Given the description of an element on the screen output the (x, y) to click on. 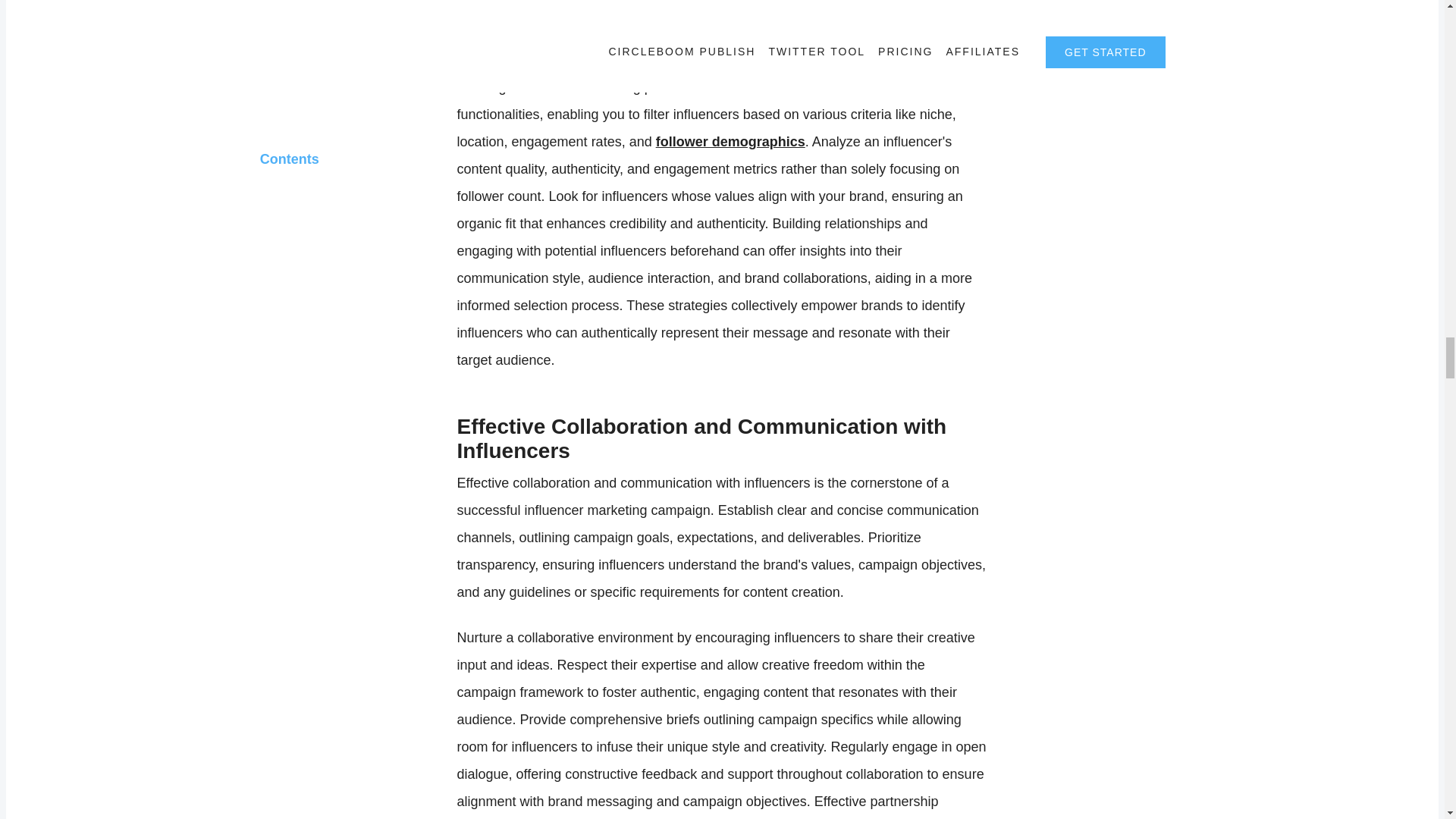
follower demographics (730, 141)
